Given the description of an element on the screen output the (x, y) to click on. 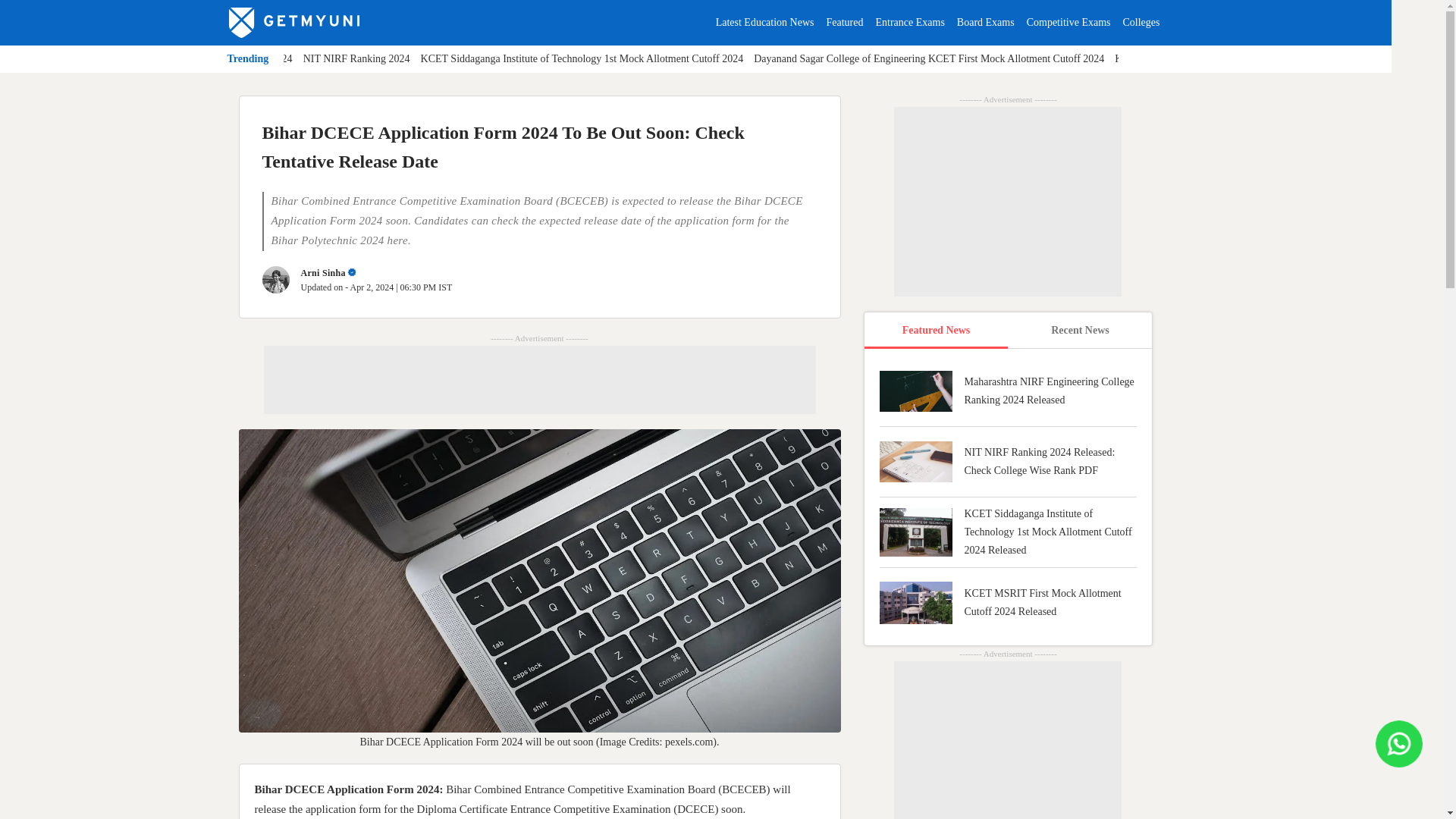
Getmyuni (294, 22)
Latest Education News (764, 21)
Board Exams (985, 21)
Competitive Exams (1068, 21)
Maharashtra NIRF Engineering College Ranking 2024 Released (1008, 394)
Maharashtra NIRF Engineering College Ranking 2024 Released (1008, 394)
